Given the description of an element on the screen output the (x, y) to click on. 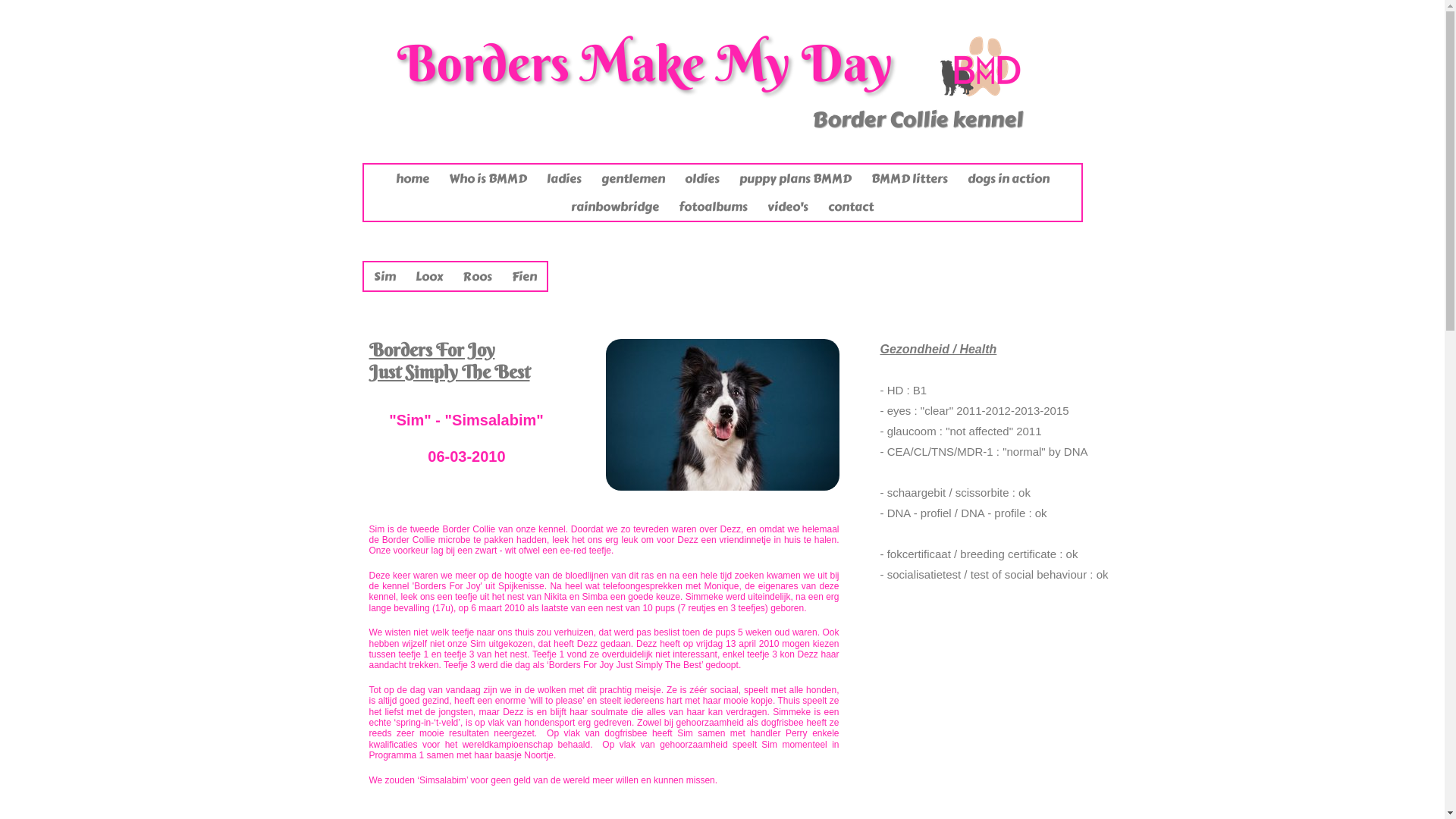
Fien Element type: text (524, 276)
dogs in action Element type: text (1007, 178)
fotoalbums Element type: text (712, 206)
oldies Element type: text (701, 178)
puppy plans BMMD Element type: text (795, 178)
contact Element type: text (850, 206)
home Element type: text (411, 178)
ladies Element type: text (563, 178)
gentlemen Element type: text (632, 178)
Who is BMMD Element type: text (487, 178)
Loox Element type: text (427, 276)
rainbowbridge Element type: text (614, 206)
BMMD litters Element type: text (909, 178)
Sim Element type: text (384, 276)
video's Element type: text (787, 206)
Roos Element type: text (476, 276)
